Given the description of an element on the screen output the (x, y) to click on. 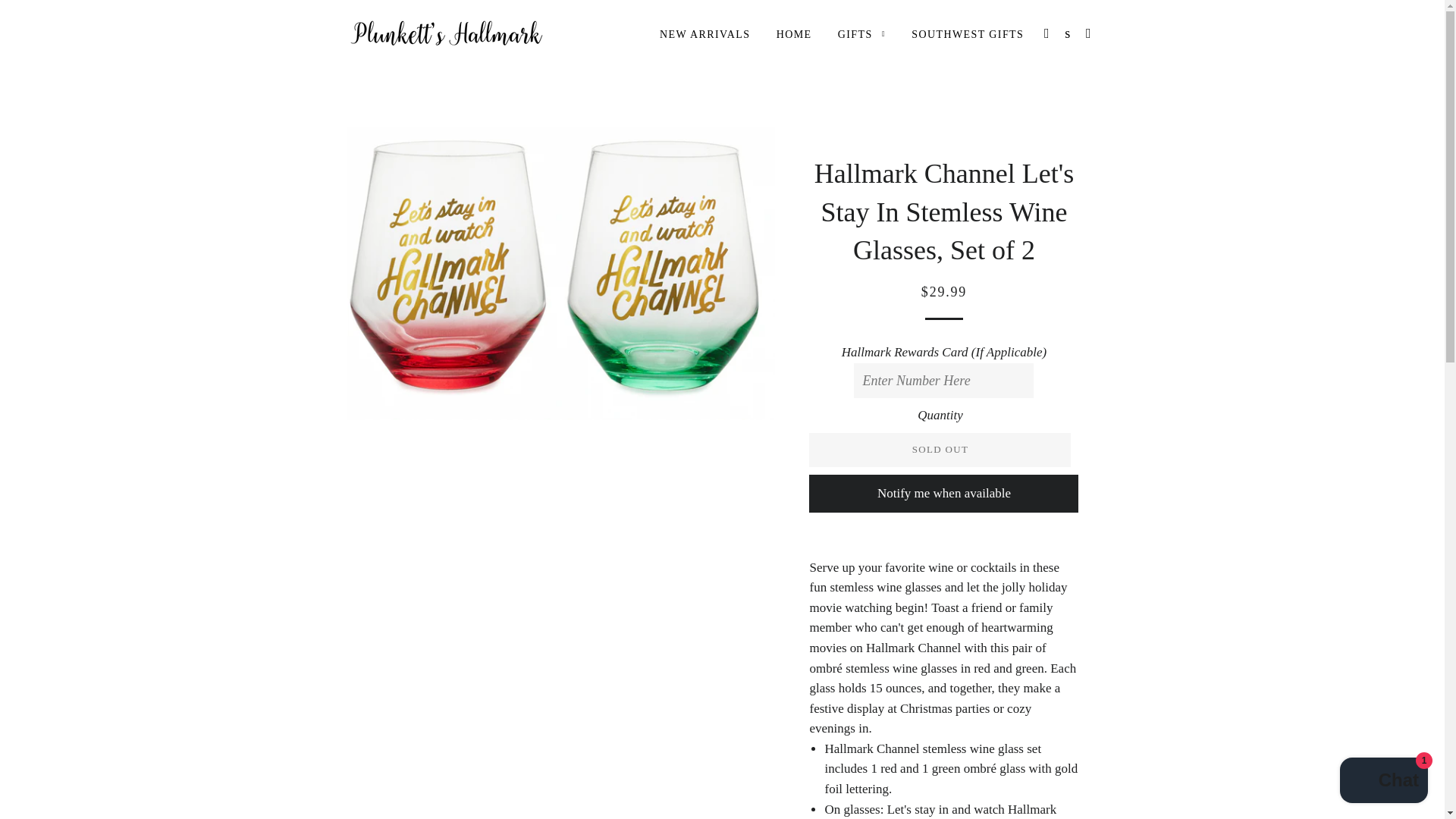
GIFTS (861, 34)
Shopify online store chat (1383, 781)
HOME (794, 34)
NEW ARRIVALS (704, 34)
